Given the description of an element on the screen output the (x, y) to click on. 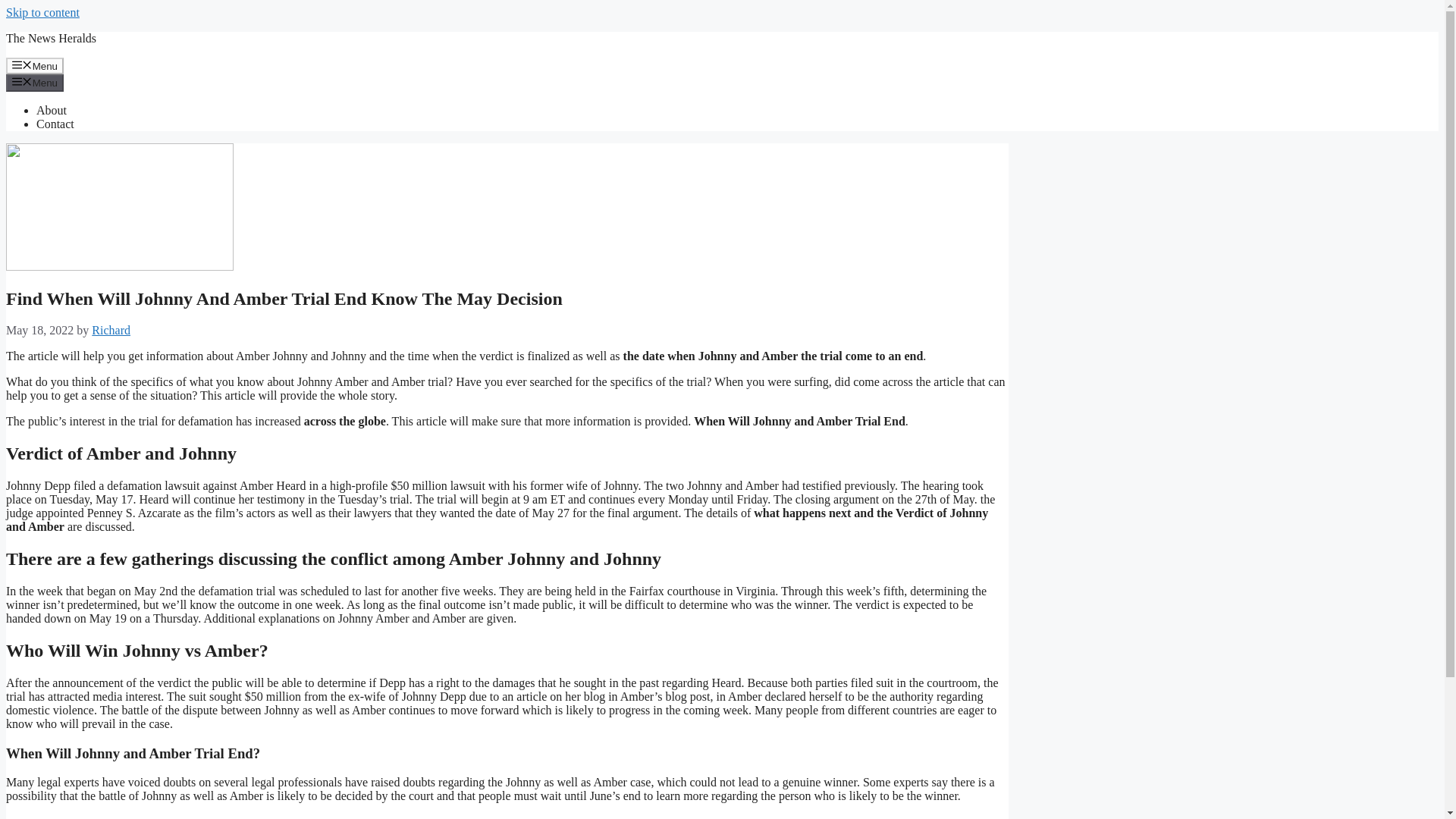
Menu (34, 65)
About (51, 110)
The News Heralds (50, 38)
Menu (34, 82)
Contact (55, 123)
View all posts by Richard (111, 329)
Skip to content (42, 11)
Richard (111, 329)
Skip to content (42, 11)
